Given the description of an element on the screen output the (x, y) to click on. 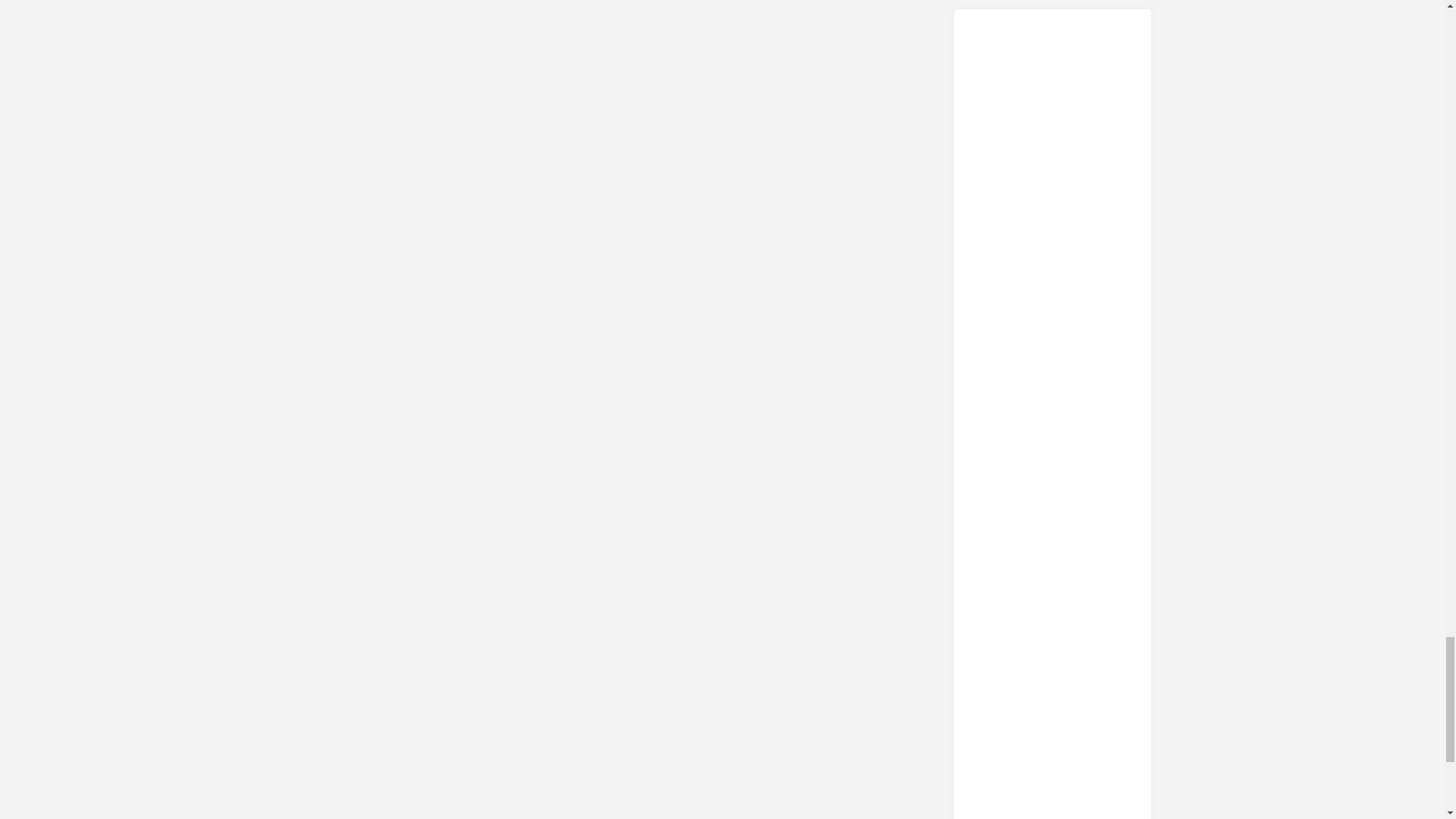
Advertisement (1052, 669)
